Given the description of an element on the screen output the (x, y) to click on. 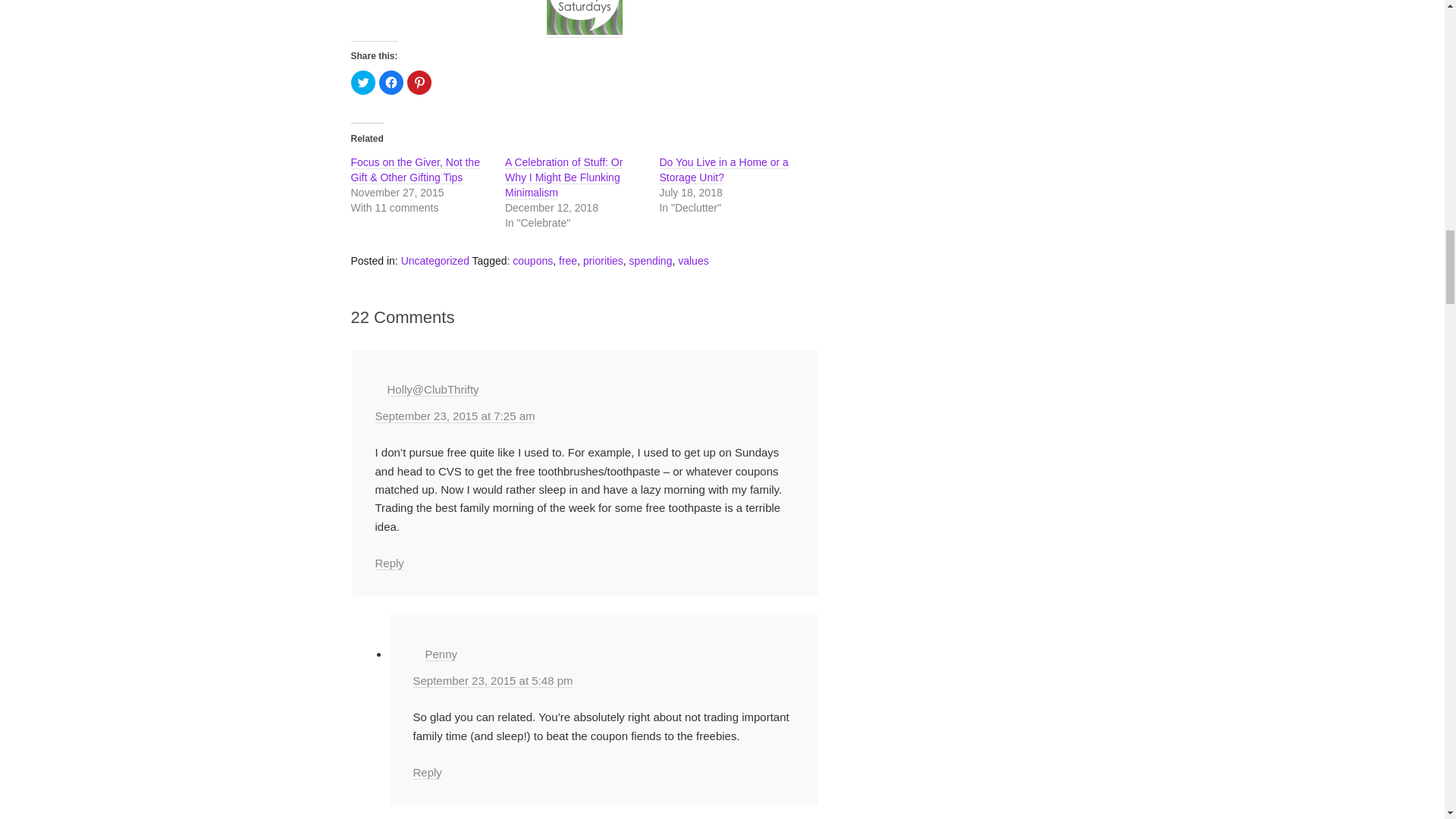
September 23, 2015 at 5:48 pm (492, 680)
Do You Live in a Home or a Storage Unit? (723, 170)
Reply (426, 772)
values (692, 260)
Click to share on Facebook (390, 82)
Click to share on Twitter (362, 82)
Penny (441, 653)
Click to share on Pinterest (418, 82)
September 23, 2015 at 7:25 am (454, 416)
spending (650, 260)
coupons (532, 260)
Reply (388, 563)
priorities (603, 260)
Uncategorized (434, 260)
